Given the description of an element on the screen output the (x, y) to click on. 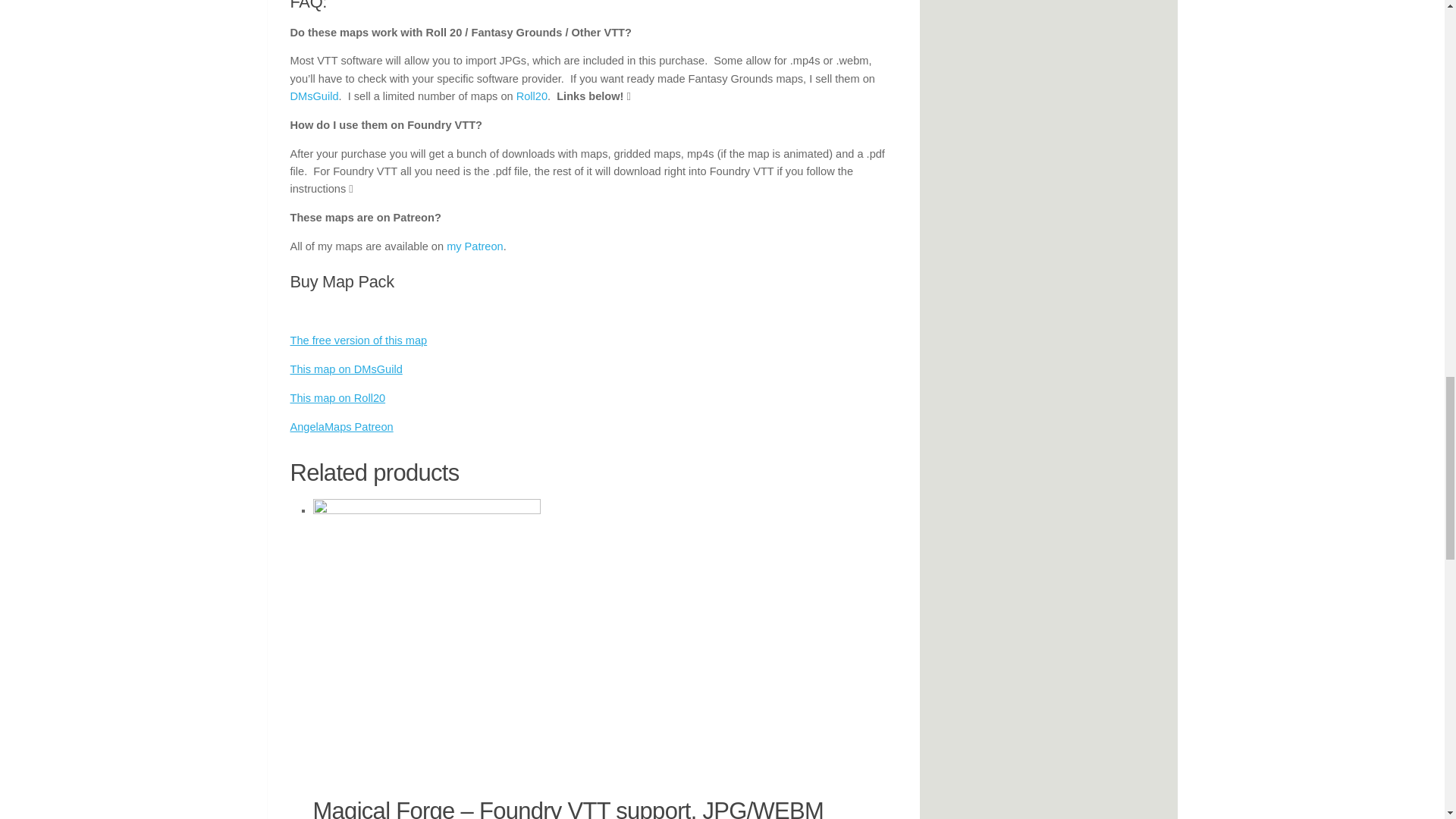
Roll20 (531, 96)
DMsGuild (313, 96)
